Given the description of an element on the screen output the (x, y) to click on. 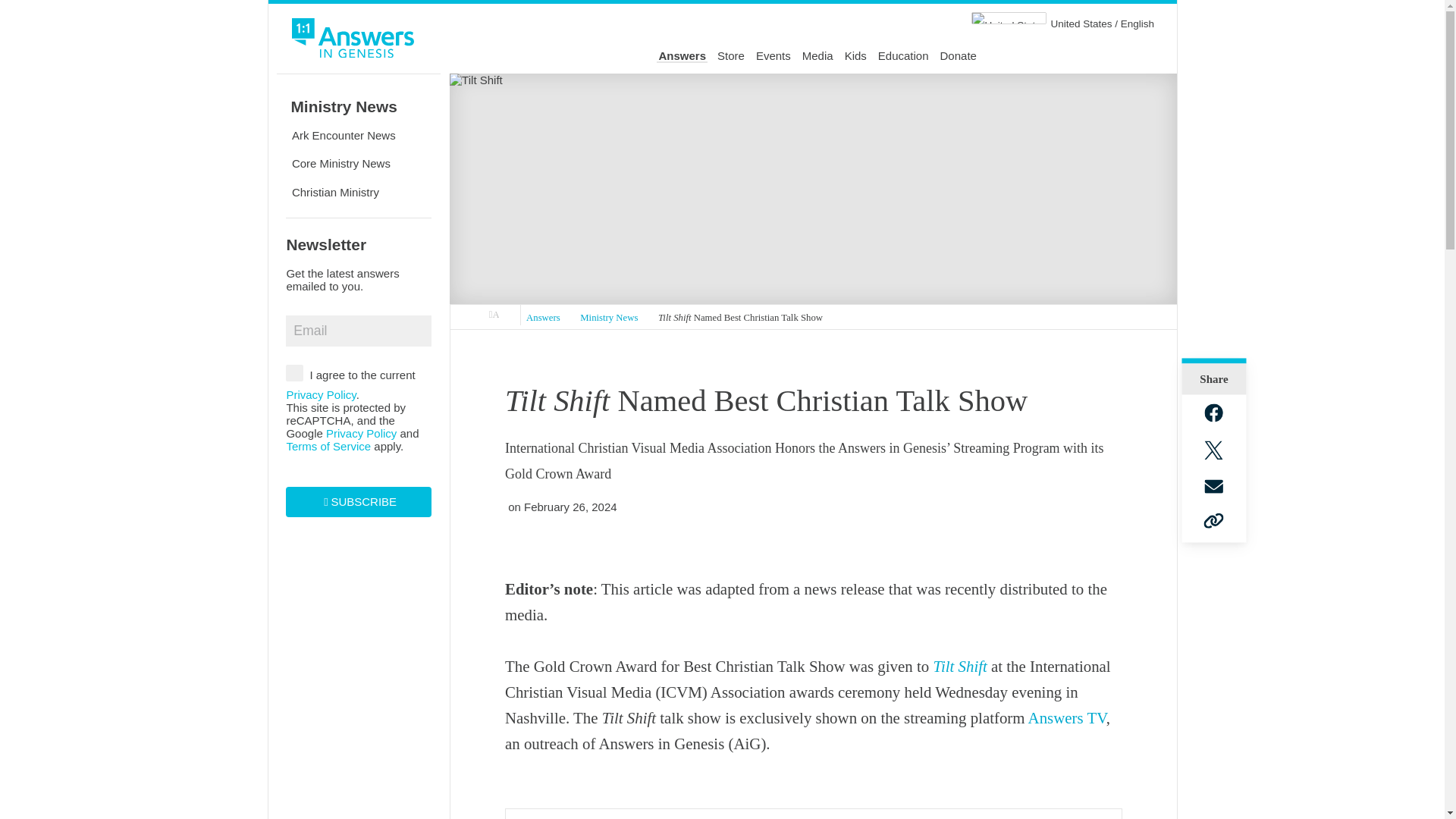
Answers (543, 318)
Store (731, 55)
Ministry News (357, 106)
Ministry News (609, 318)
Kids (855, 55)
Ark Encounter News (357, 134)
Answers in Genesis (494, 314)
Media (817, 55)
Tilt Shift Named Best Christian Talk Show (740, 318)
Answers (681, 55)
